Given the description of an element on the screen output the (x, y) to click on. 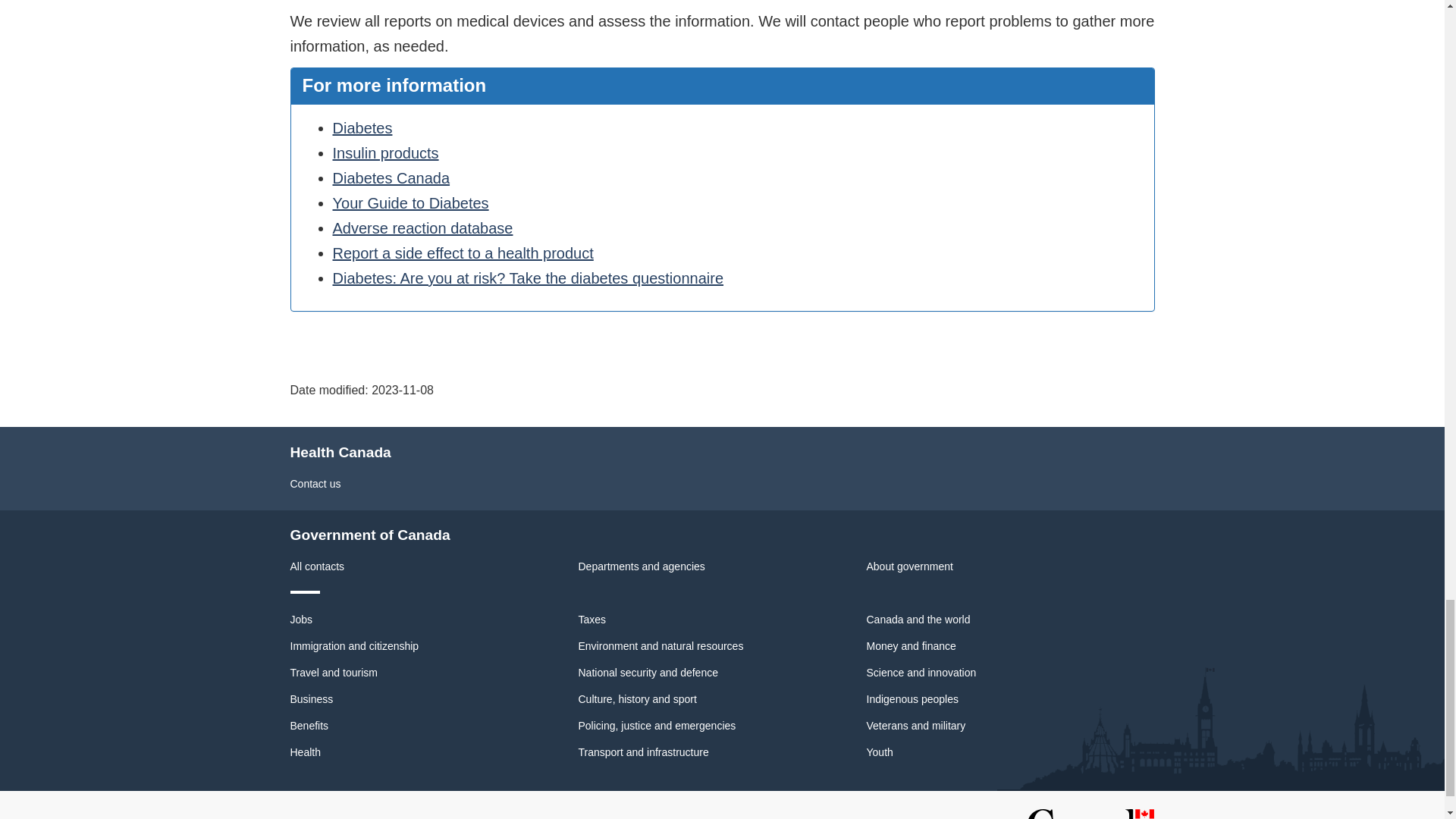
Contact us (314, 483)
Insulin products (384, 152)
Report a side effect to a health product (461, 252)
Your Guide to Diabetes (409, 202)
Diabetes Canada (390, 177)
Diabetes (361, 127)
Diabetes: Are you at risk? Take the diabetes questionnaire (527, 278)
Adverse reaction database (421, 228)
All contacts (316, 566)
